Given the description of an element on the screen output the (x, y) to click on. 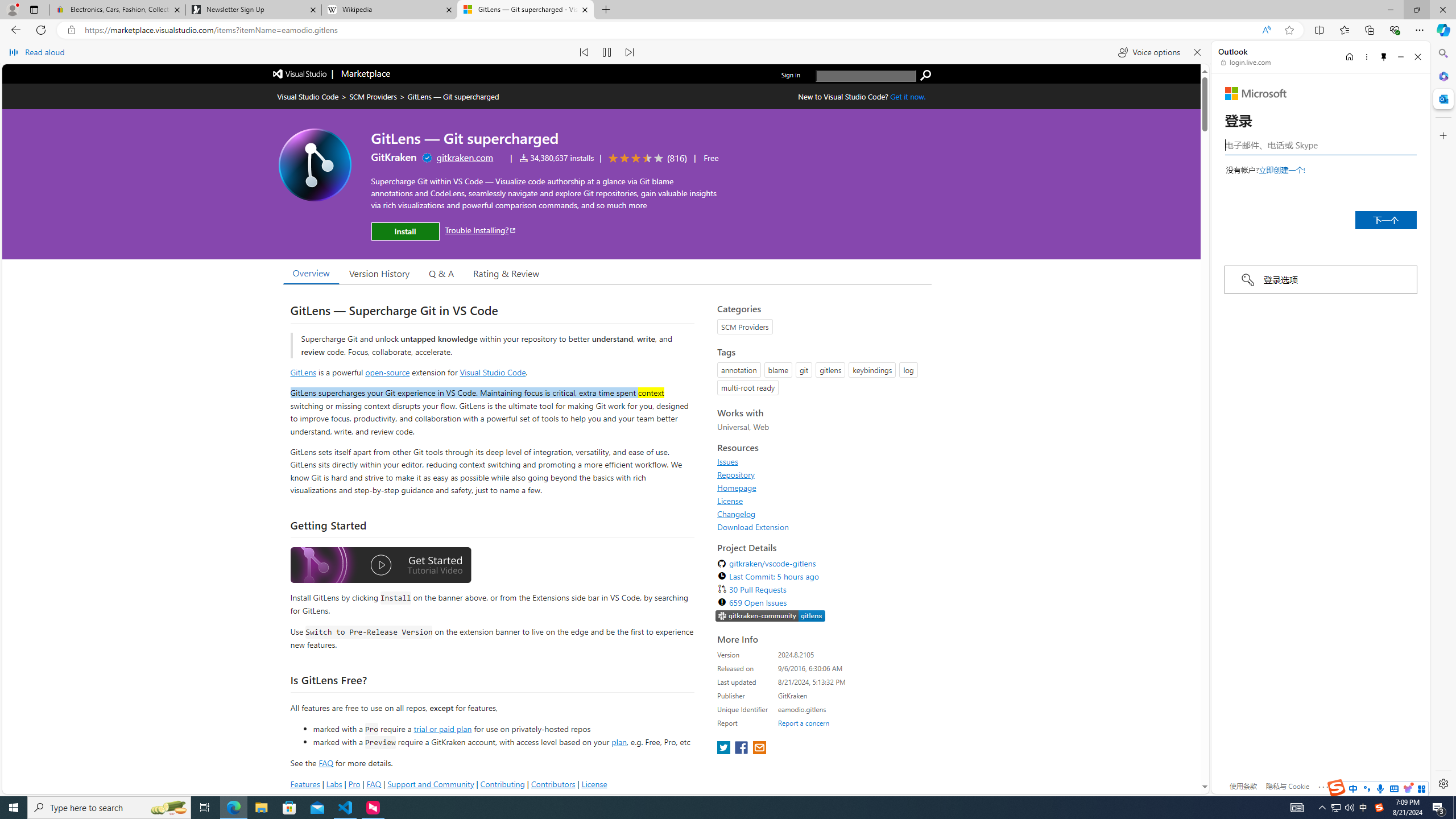
Repository (820, 474)
gitkraken.com (464, 156)
Labs (334, 783)
Download Extension (820, 526)
Changelog (736, 513)
Repository (735, 474)
share extension on twitter (724, 748)
Get Visual Studio Code Now (907, 96)
Contributing (502, 783)
plan (618, 741)
Issues (820, 461)
